Given the description of an element on the screen output the (x, y) to click on. 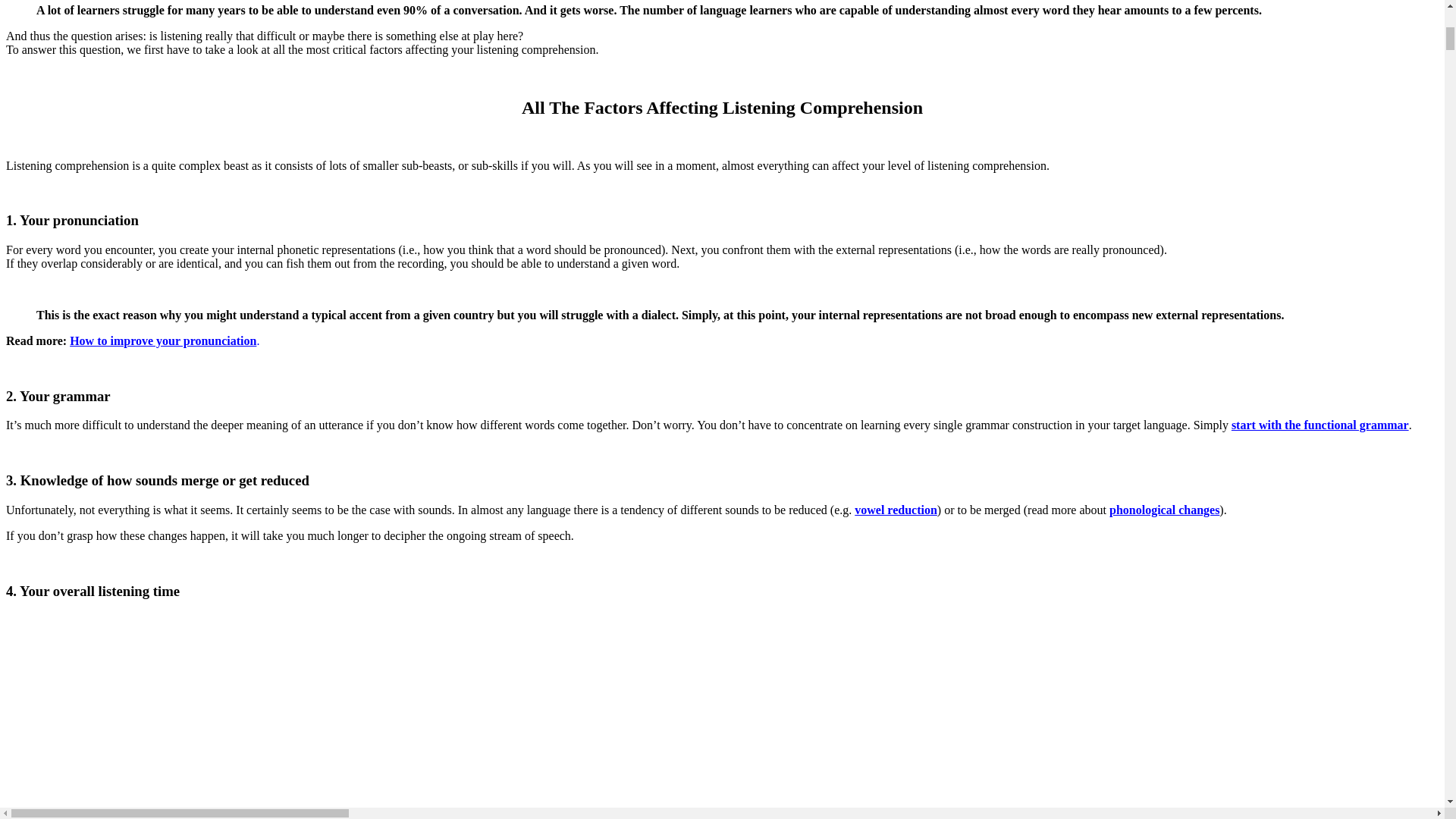
start with the functional grammar (1320, 424)
phonological changes (1164, 509)
vowel reduction (895, 509)
How to improve your pronunciation (162, 340)
